Given the description of an element on the screen output the (x, y) to click on. 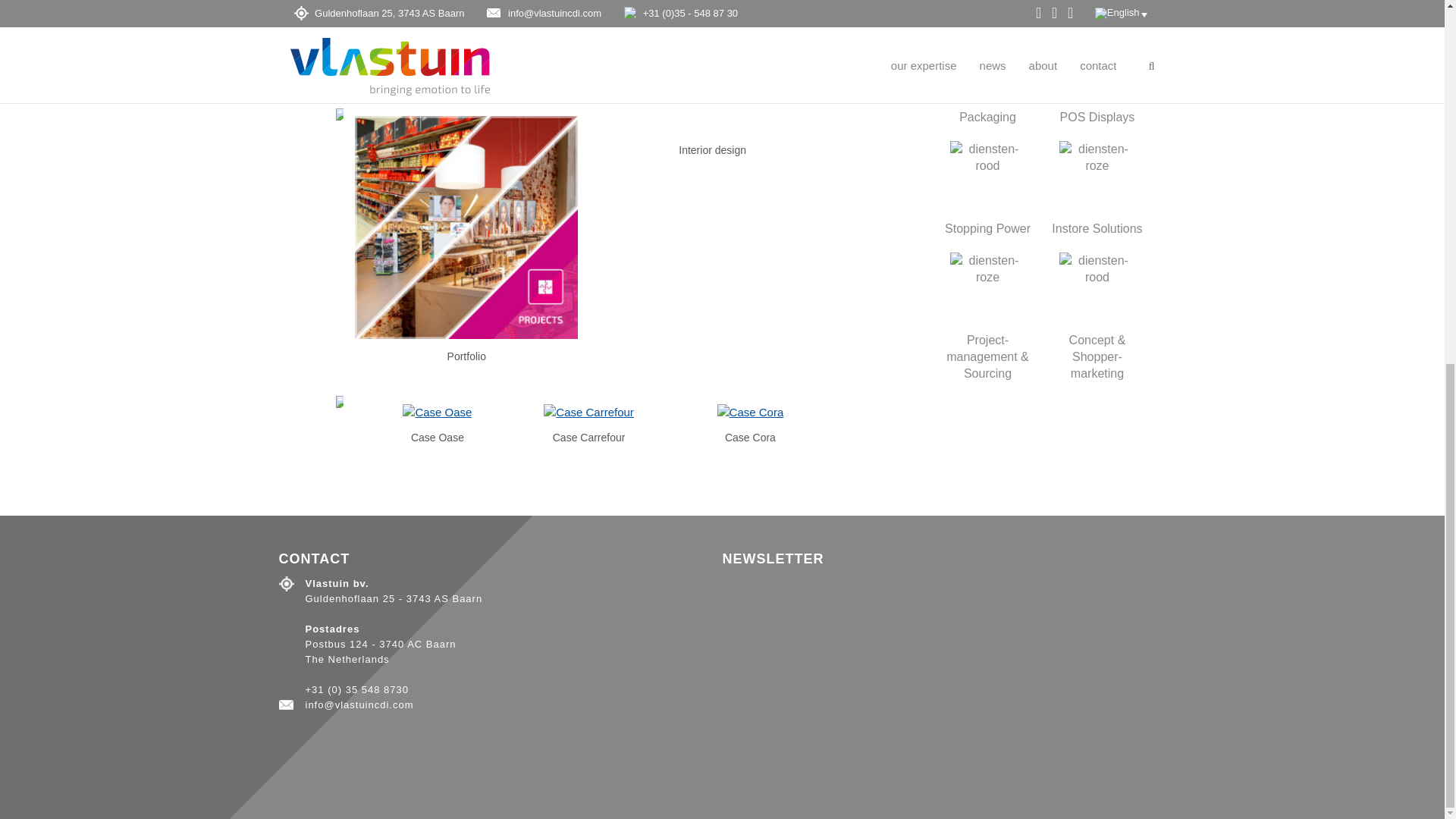
Packaging (987, 75)
POS Displays (1096, 75)
Digital Signage (1096, 7)
Ownership (987, 7)
Instore Solutions (1096, 187)
Stopping Power (987, 187)
